Given the description of an element on the screen output the (x, y) to click on. 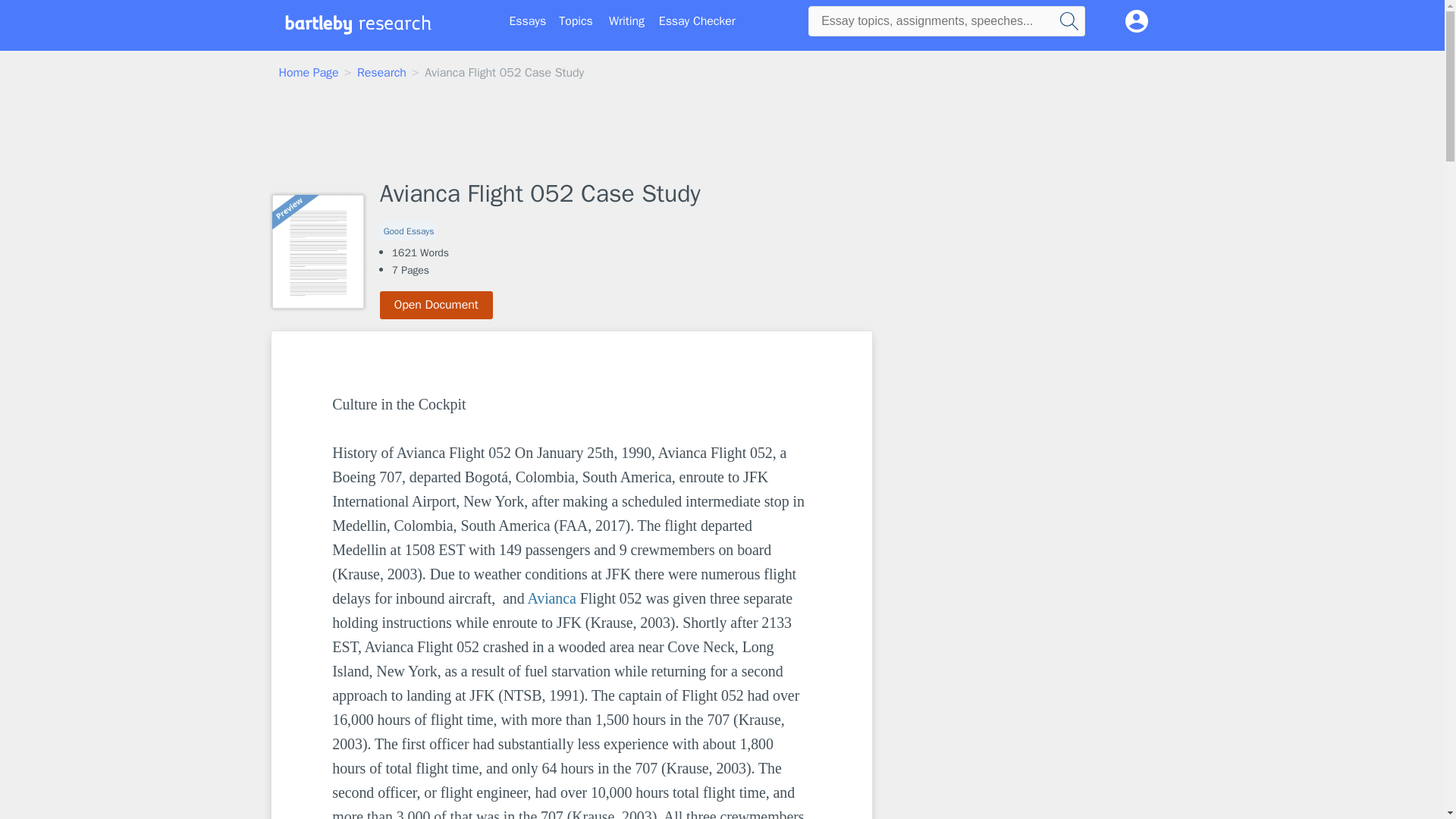
Avianca (551, 597)
Essay Checker (697, 20)
Essays (528, 20)
Writing (626, 20)
Open Document (436, 305)
Research (381, 72)
Home Page (309, 72)
Topics (575, 20)
